Given the description of an element on the screen output the (x, y) to click on. 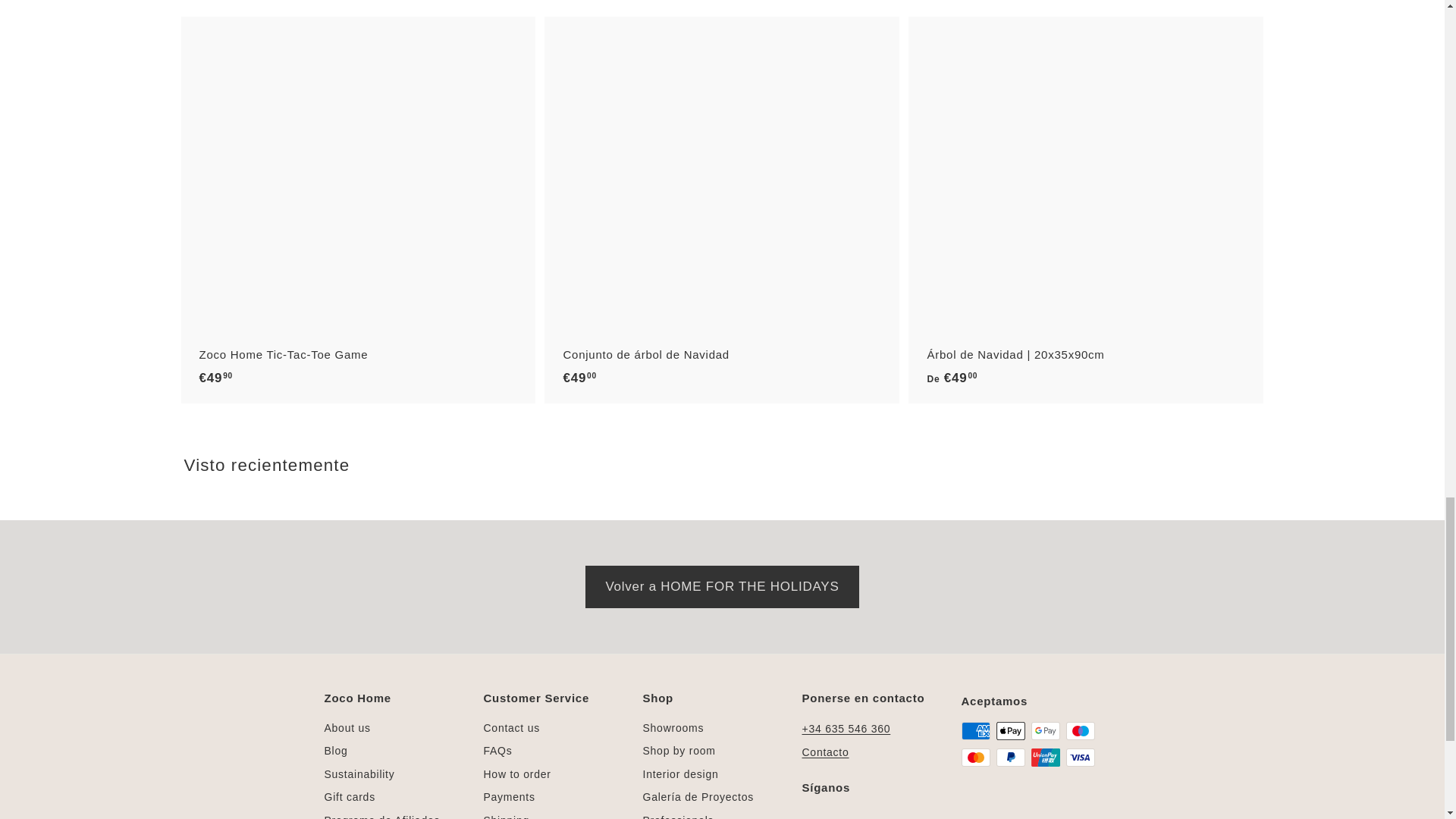
Google Pay (1044, 730)
Visa (1079, 757)
PayPal (1010, 757)
Union Pay (1044, 757)
Apple Pay (1010, 730)
Maestro (1079, 730)
Mastercard (975, 757)
American Express (975, 730)
